Given the description of an element on the screen output the (x, y) to click on. 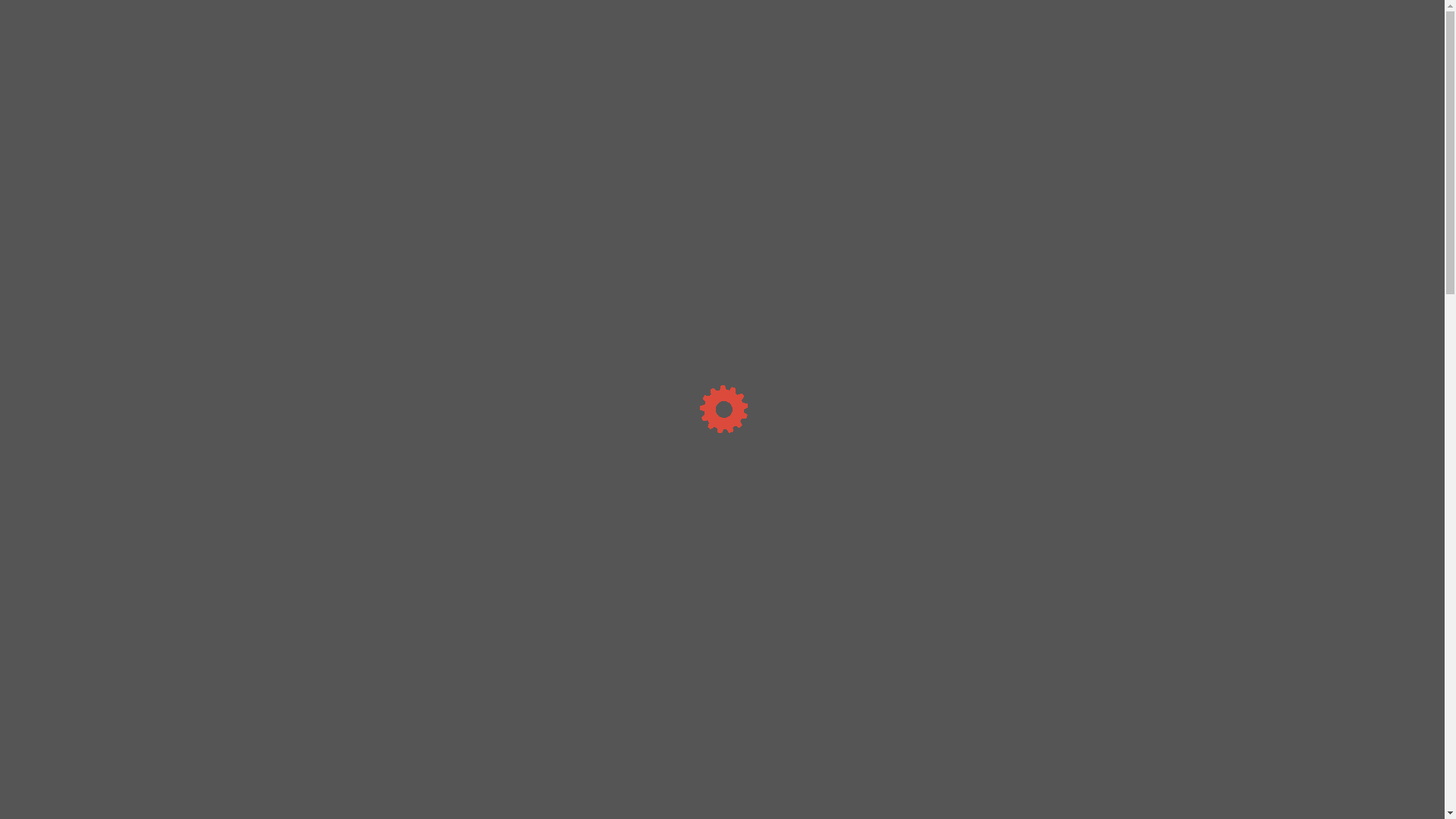
Octavia (1Z) Element type: text (1066, 526)
BMW Element type: text (1054, 646)
+375 33 355-93-39 Element type: text (843, 23)
+375 29 610-93-39 Element type: text (687, 23)
Felicia Element type: text (1066, 435)
Skoda Element type: text (1054, 297)
SKODA Element type: text (428, 110)
Fabia Roomster, Praktik Element type: text (1066, 389)
Audi Element type: text (1054, 625)
Octavia Element type: text (1066, 480)
Daewoo Element type: text (1054, 752)
Forman Element type: text (1066, 457)
Ford Element type: text (1054, 795)
FIAT Element type: text (1054, 774)
Dacia Element type: text (1054, 731)
Superb Element type: text (1066, 594)
Chevrolet Element type: text (1054, 668)
Citroen Element type: text (1054, 710)
Chrysler Element type: text (1054, 689)
ENGINES.BY Element type: text (354, 20)
Favorit Element type: text (1066, 412)
Fabia Element type: text (1066, 321)
Octavia II Element type: text (1066, 548)
Fabia II Element type: text (1066, 366)
Octavia (1U) Element type: text (1066, 503)
RAPID Element type: text (1066, 571)
Fabia (6Y) Element type: text (1066, 344)
